Given the description of an element on the screen output the (x, y) to click on. 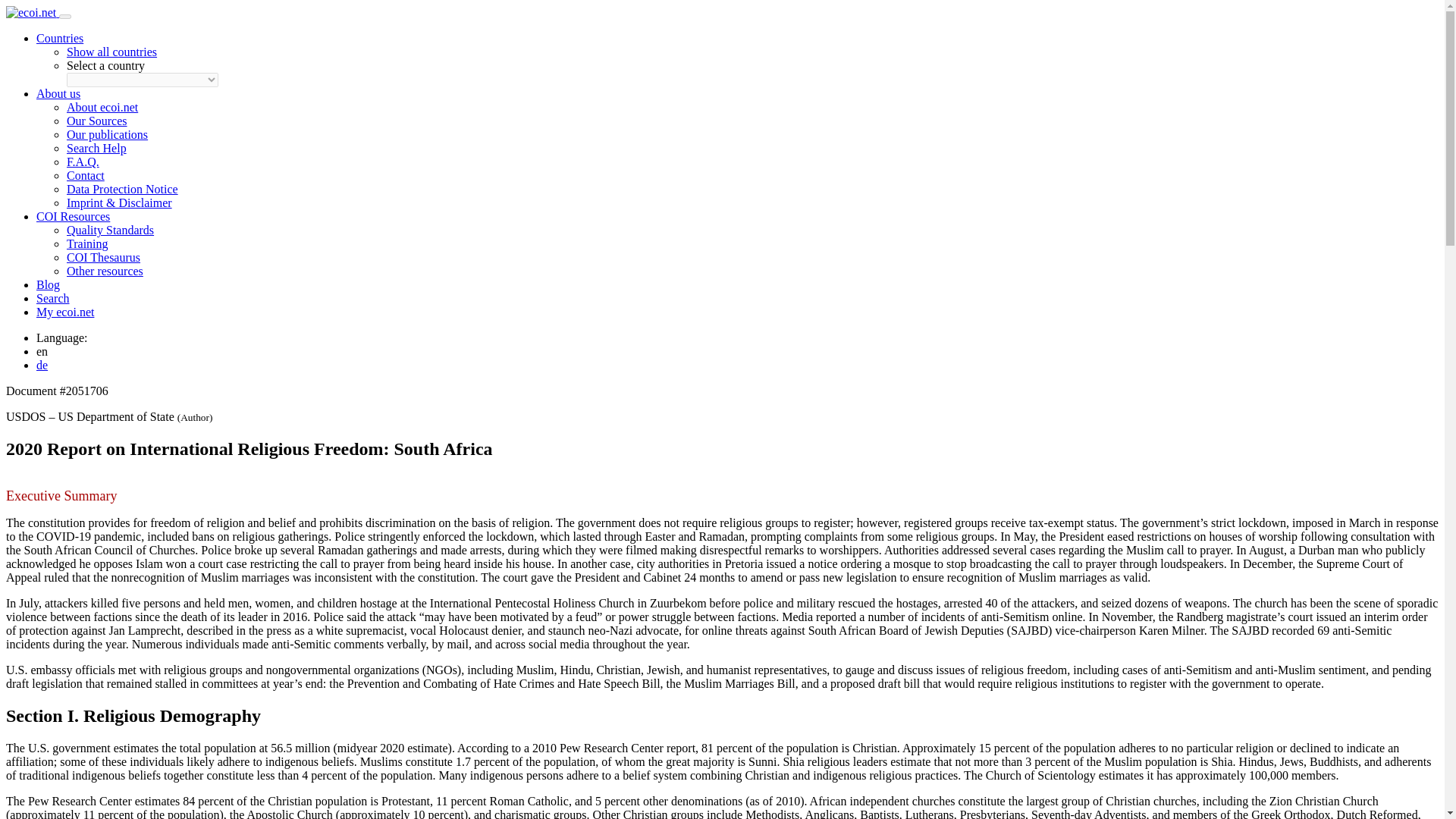
Search (52, 297)
Contact (85, 174)
Go to ecoi.net homepage (32, 11)
F.A.Q. (82, 161)
Search Help (96, 147)
Show all countries (111, 51)
My ecoi.net (65, 311)
Blog (47, 284)
About ecoi.net (102, 106)
Our Sources (97, 120)
COI Resources (73, 215)
Quality Standards (110, 229)
Other resources (104, 270)
Countries (59, 38)
Data Protection Notice (121, 188)
